Given the description of an element on the screen output the (x, y) to click on. 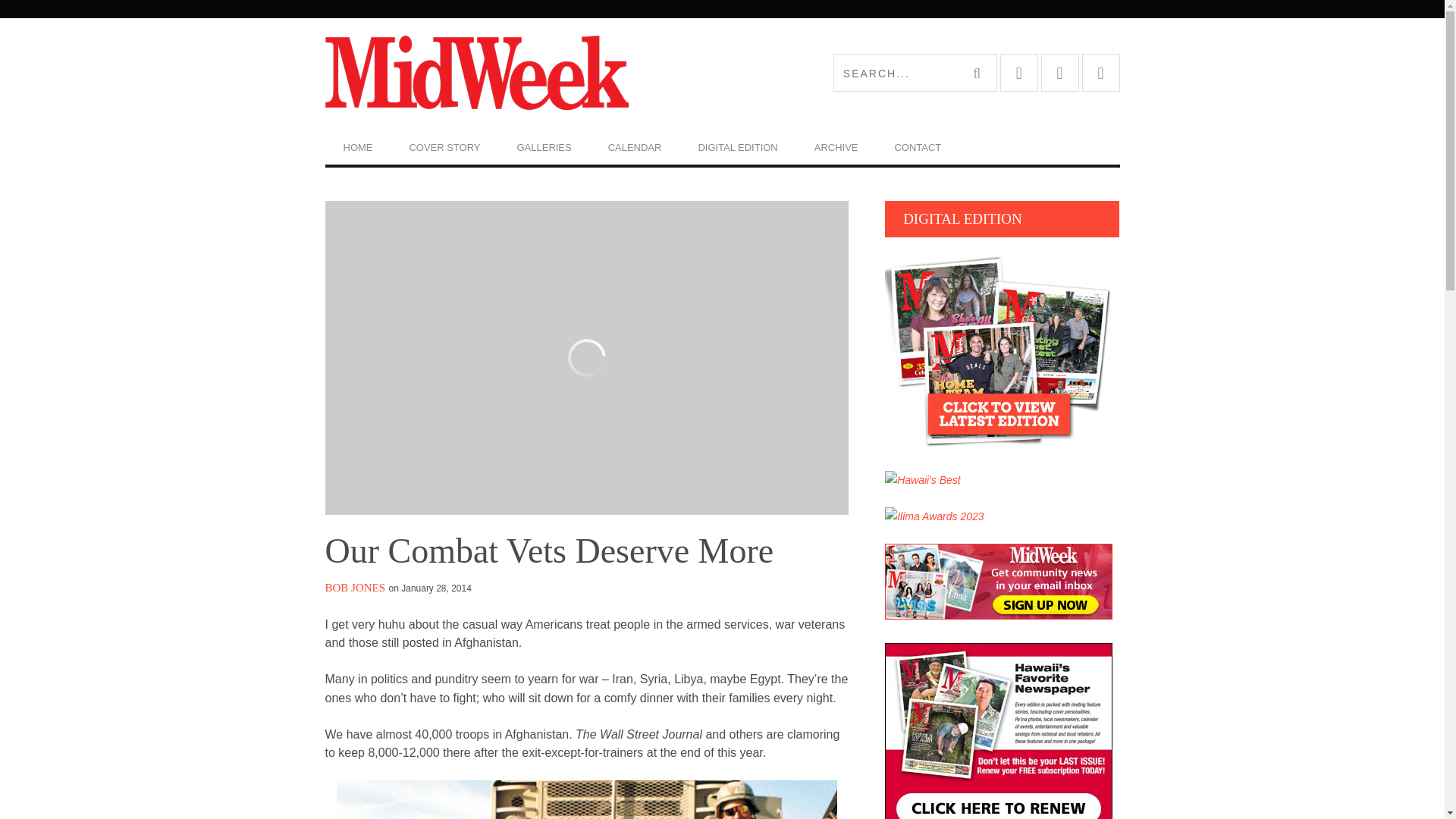
BOB JONES (354, 587)
CALENDAR (634, 147)
COVER STORY (443, 147)
ARCHIVE (836, 147)
CONTACT (917, 147)
HOME (357, 147)
GALLERIES (544, 147)
MidWeek (523, 72)
Posts by Bob Jones (354, 587)
DIGITAL EDITION (736, 147)
